Given the description of an element on the screen output the (x, y) to click on. 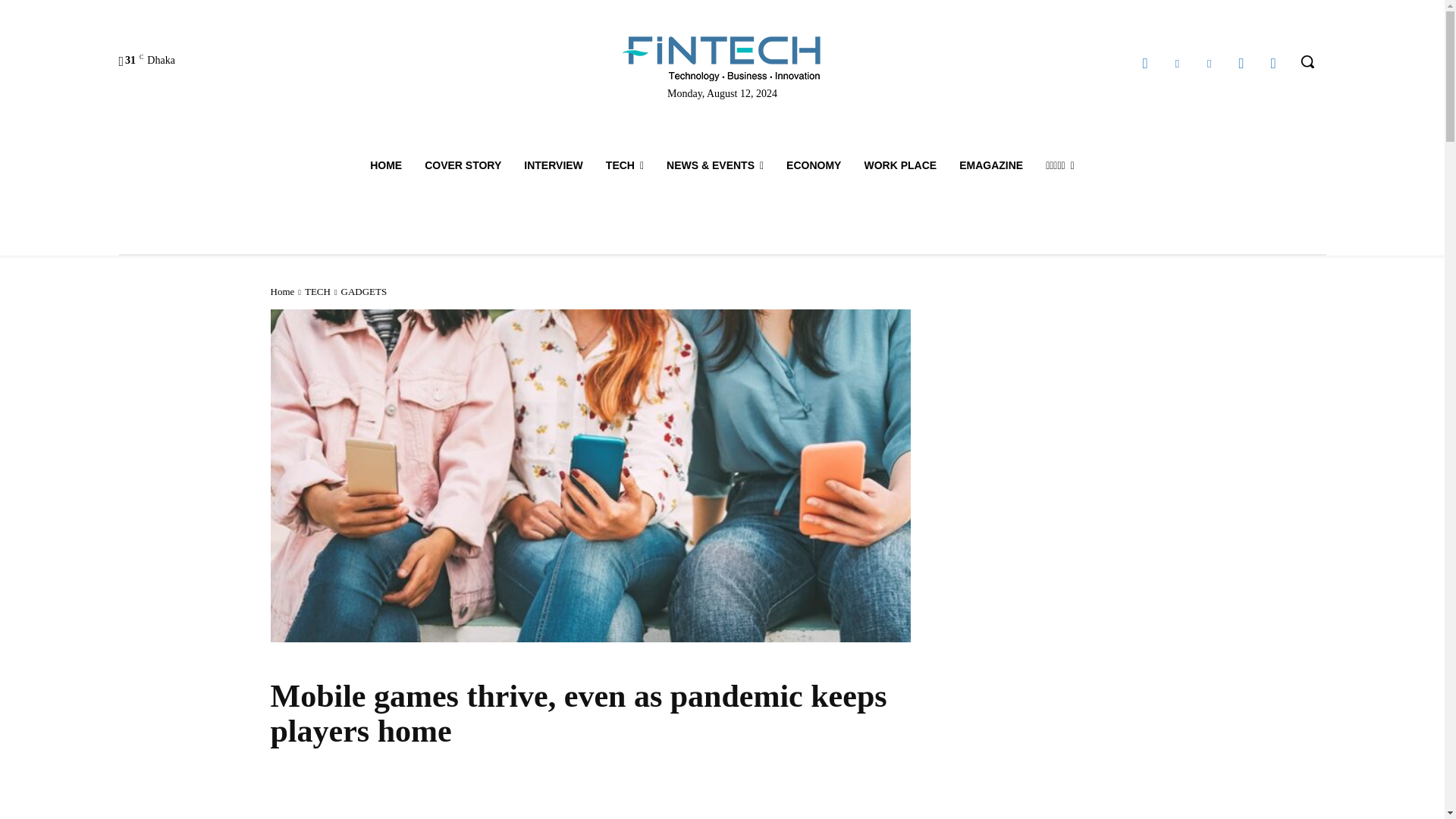
Facebook (1144, 63)
View all posts in GADGETS (363, 291)
Youtube (1272, 63)
Pinterest (1208, 63)
Linkedin (1176, 63)
COVER STORY (462, 164)
INTERVIEW (553, 164)
HOME (385, 164)
View all posts in TECH (317, 291)
TECH (624, 164)
